Given the description of an element on the screen output the (x, y) to click on. 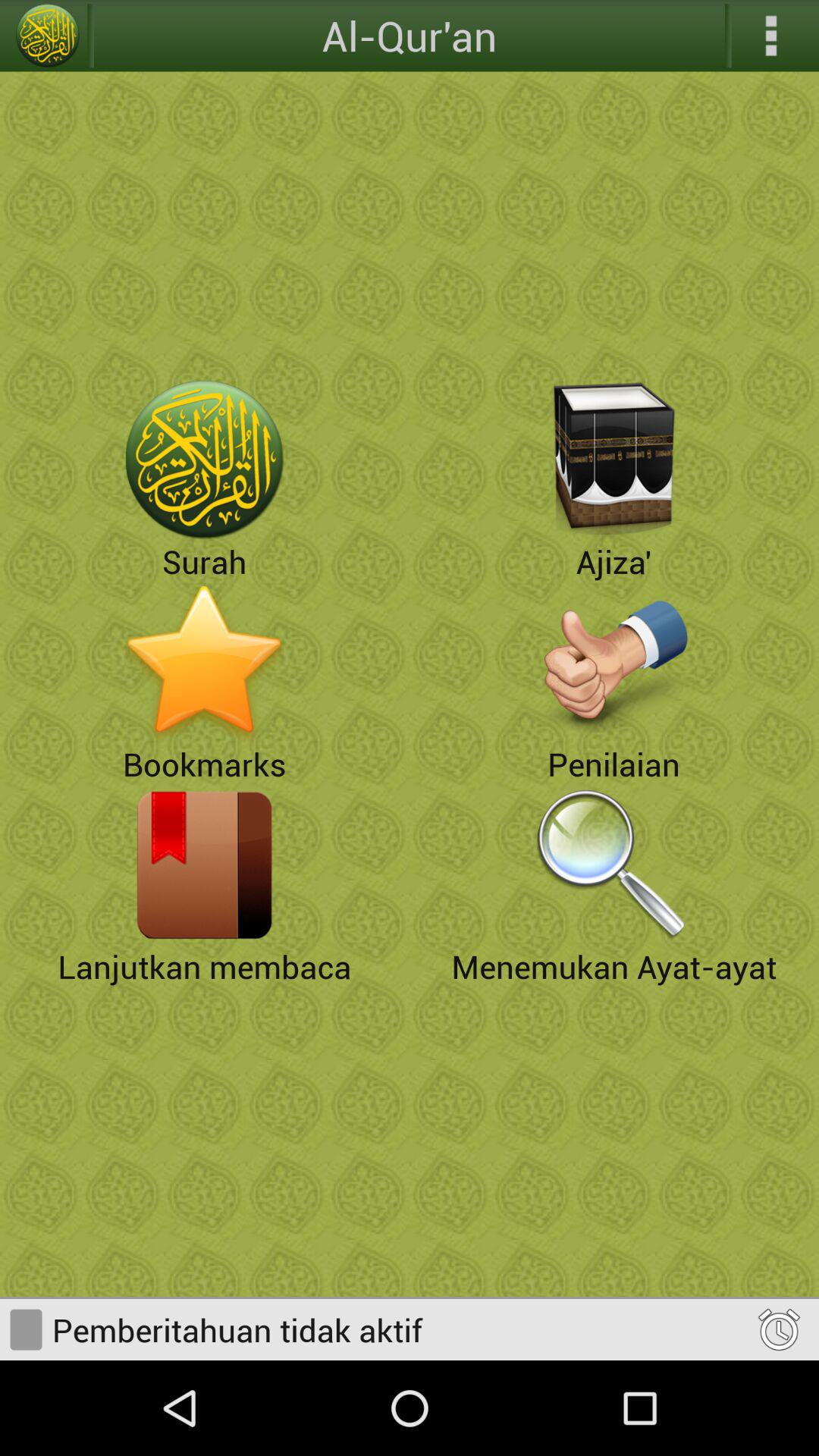
go to alarm (778, 1329)
